Given the description of an element on the screen output the (x, y) to click on. 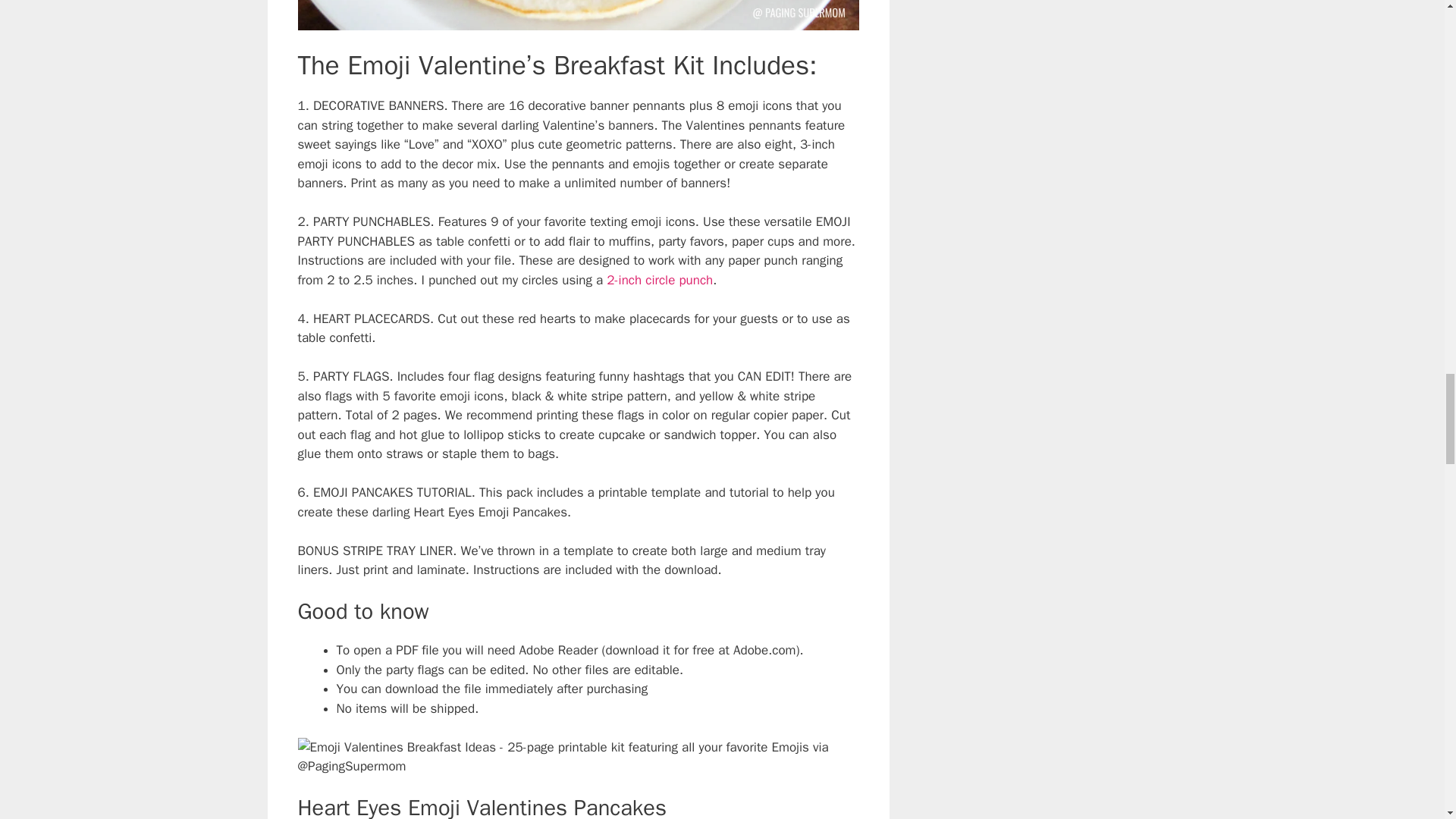
Valentines Heart Eyes Emoji Pancakes (578, 756)
2-inch circle punch (660, 279)
Emoji Valentines Breakfast 3 (578, 14)
